Given the description of an element on the screen output the (x, y) to click on. 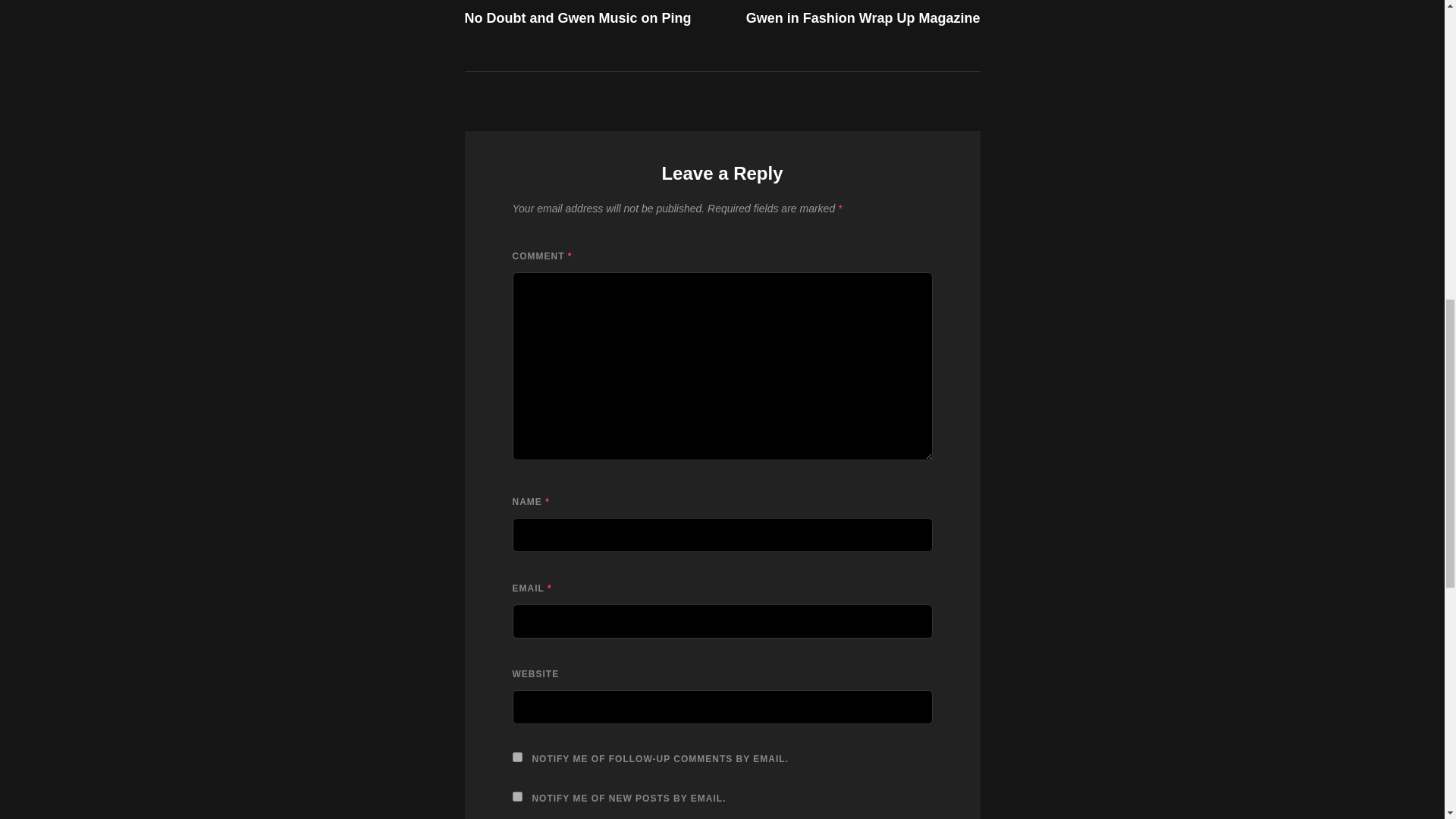
subscribe (855, 14)
subscribe (517, 796)
